Given the description of an element on the screen output the (x, y) to click on. 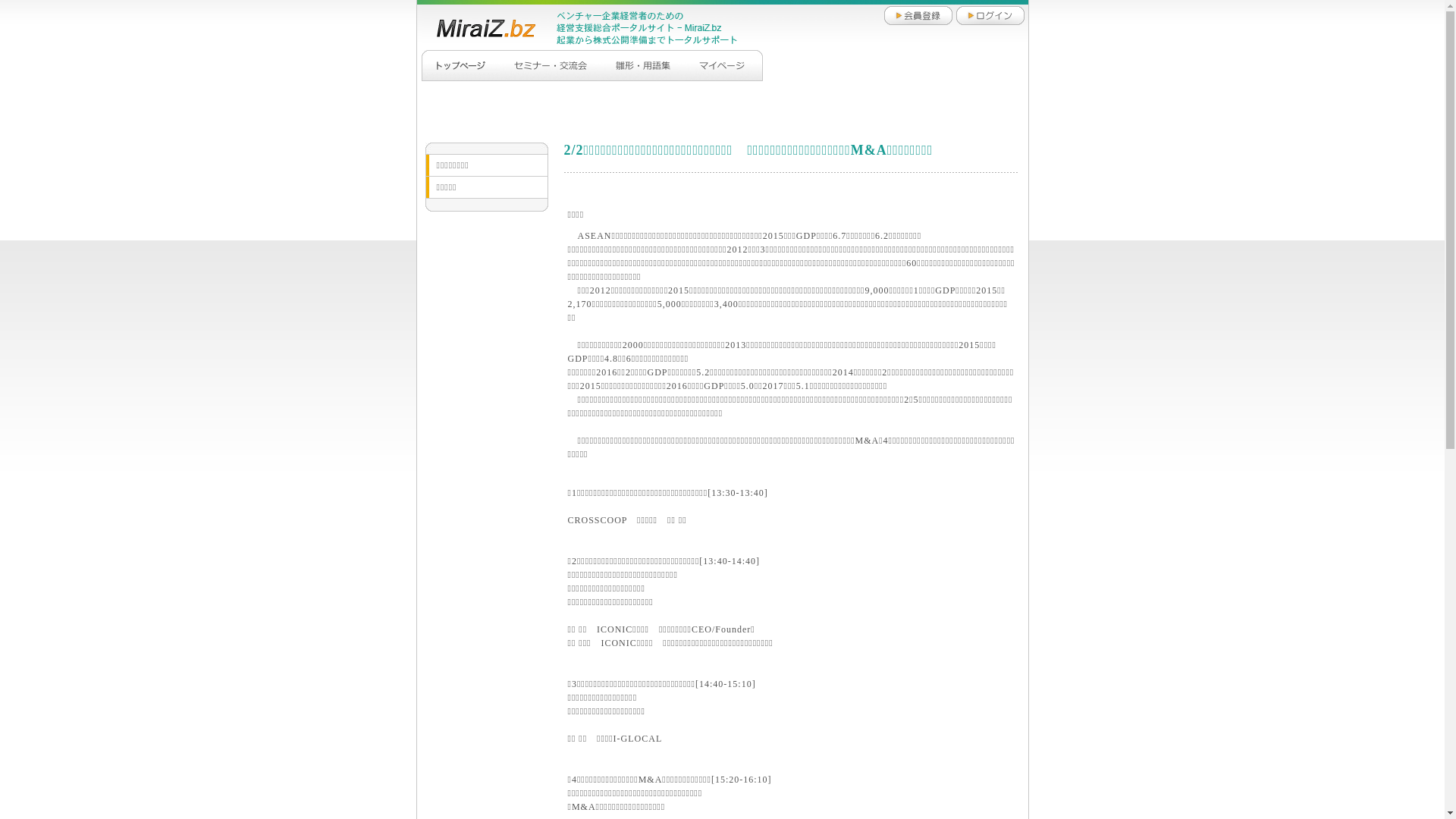
MiraiZ.bz Element type: text (477, 27)
